Given the description of an element on the screen output the (x, y) to click on. 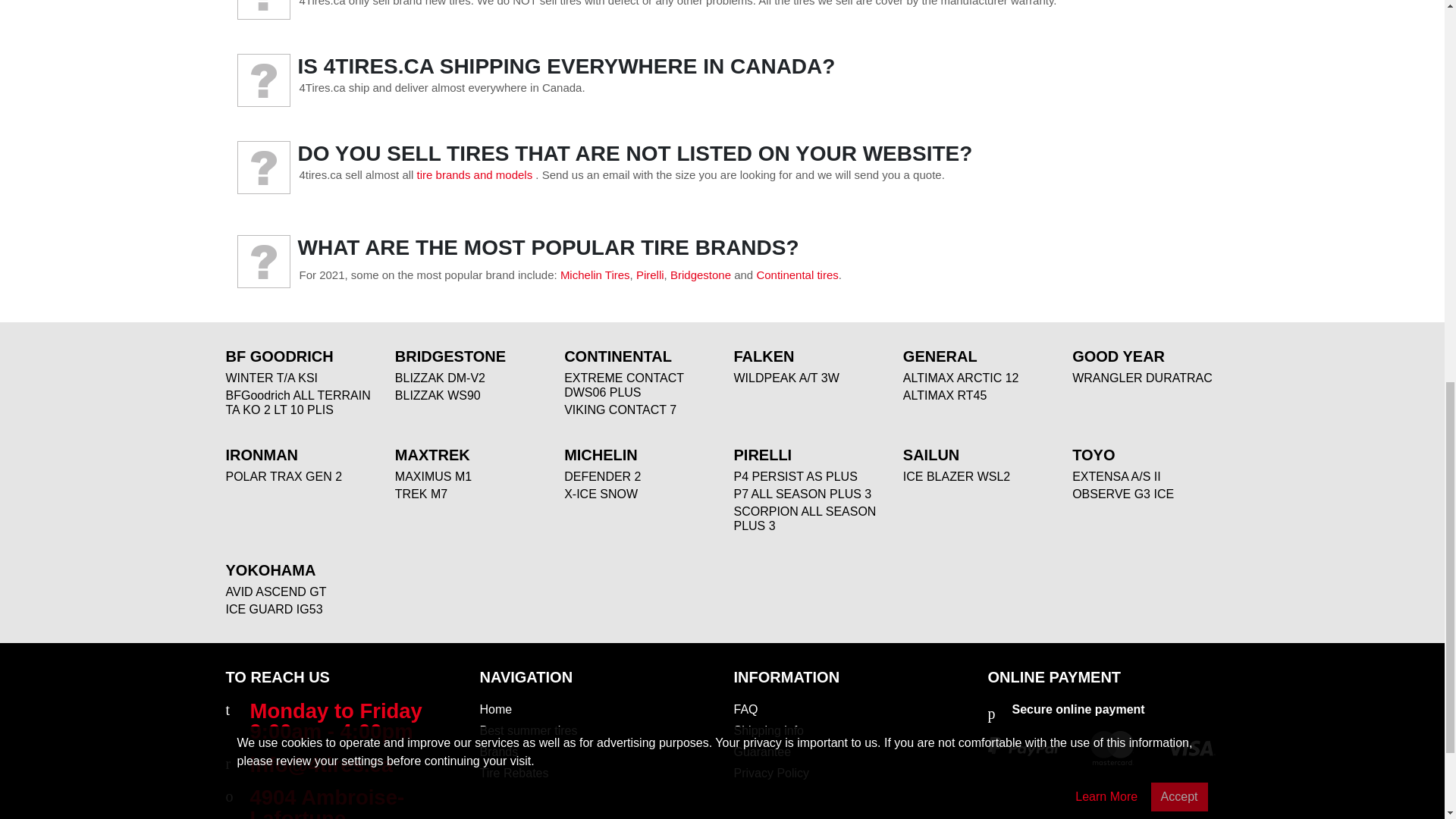
CONTINENTAL VIKING CONTACT 7 (620, 409)
Pirelli (649, 274)
Bridgestone (699, 274)
Michelin Tires (595, 274)
BRIDGESTONE BLIZZAK DM-V2 (439, 377)
BRIDGESTONE BLIZZAK WS90 (437, 395)
IRONMAN POLAR TRAX GEN 2 (283, 476)
Continental tires (796, 274)
MAXTREK MAXIMUS M1 (432, 476)
CONTINENTAL EXTREME CONTACT DWS06 PLUS (624, 384)
